Given the description of an element on the screen output the (x, y) to click on. 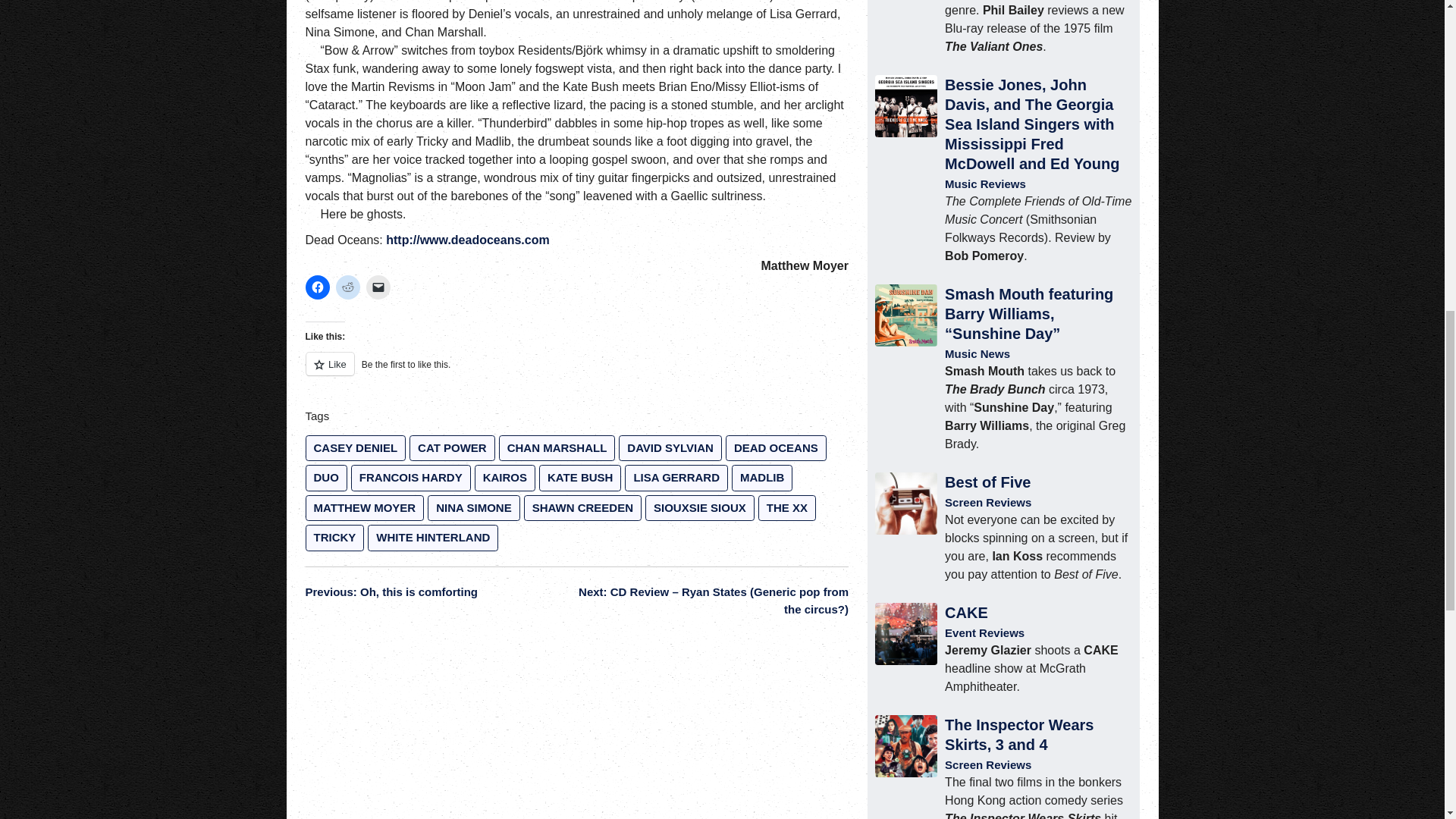
Like or Reblog (575, 372)
Click to share on Facebook (316, 287)
Click to email a link to a friend (377, 287)
Click to share on Reddit (346, 287)
